Given the description of an element on the screen output the (x, y) to click on. 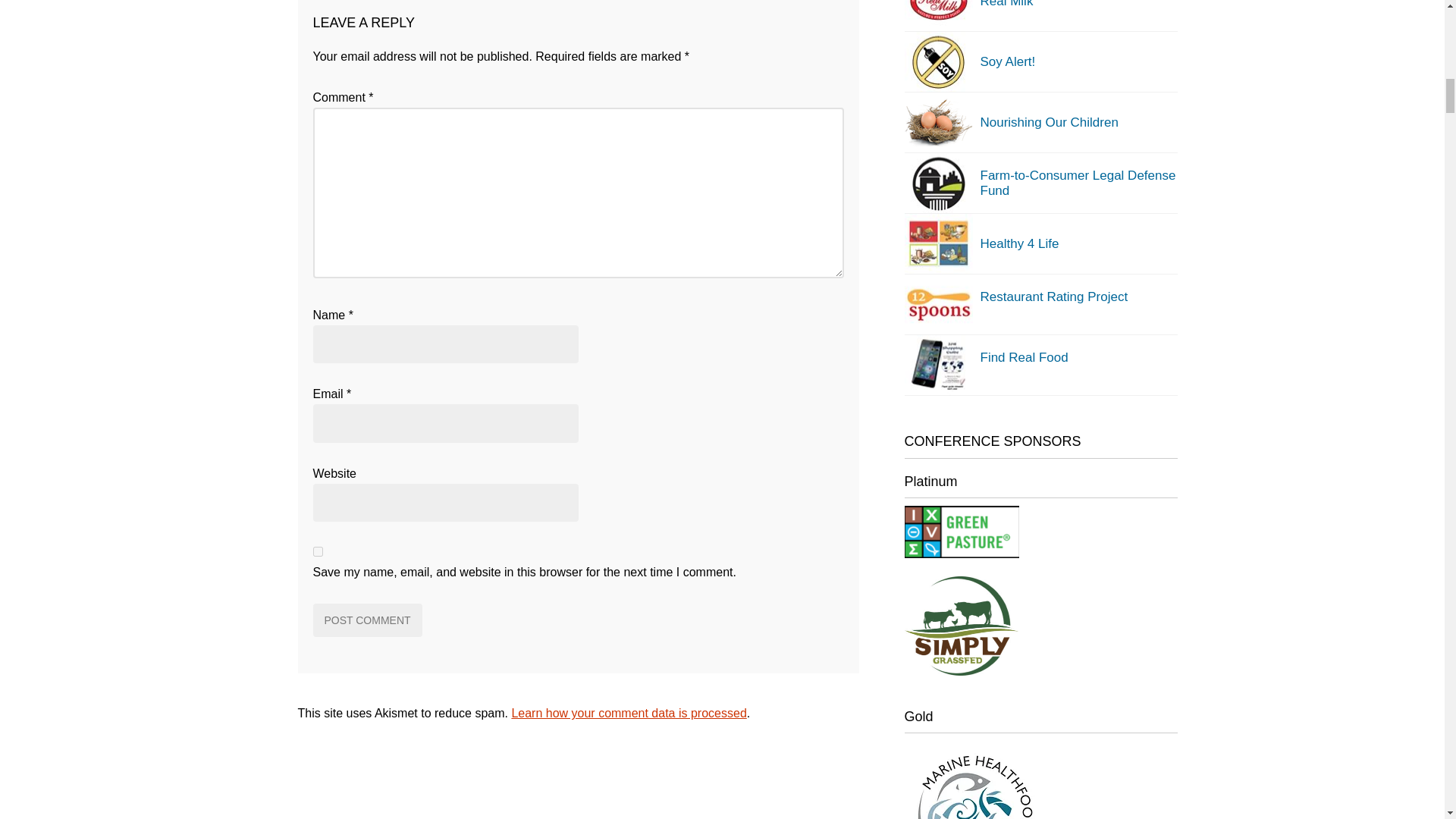
Post Comment (367, 620)
yes (317, 551)
